Given the description of an element on the screen output the (x, y) to click on. 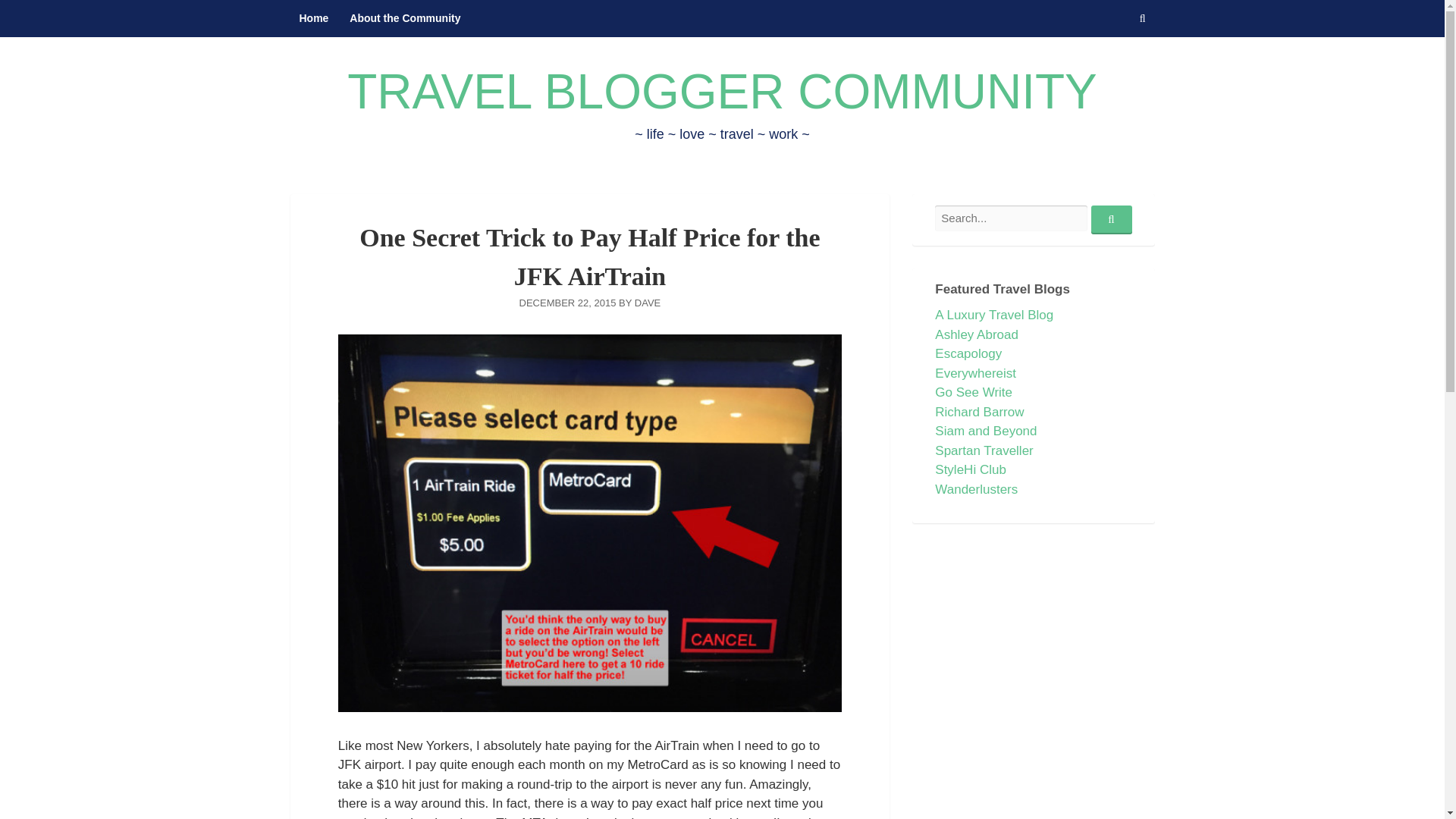
Siam and Beyond (985, 431)
DAVE (647, 302)
Escapology (967, 353)
Home (313, 18)
StyleHi Club (970, 469)
TRAVEL BLOGGER COMMUNITY (722, 91)
Ashley Abroad (975, 334)
Search... (1110, 219)
Go See Write (972, 391)
Spartan Traveller (983, 450)
